Given the description of an element on the screen output the (x, y) to click on. 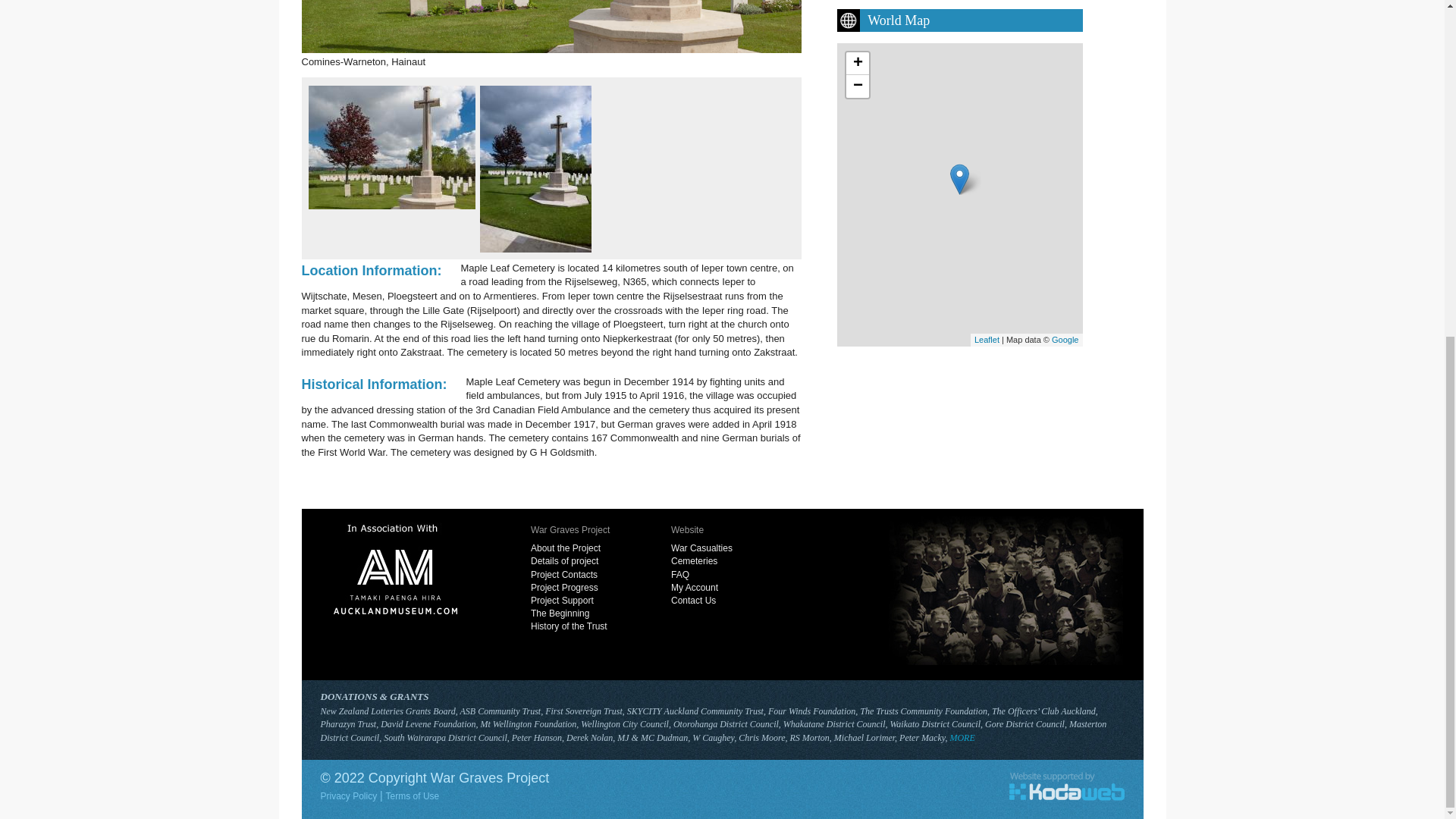
Google (1064, 338)
Leaflet (986, 338)
Maple Leaf Cemetery (551, 27)
A JS library for interactive maps (986, 338)
History of the Trust (582, 626)
Maple Leaf Cemetery (390, 147)
Project Support (582, 600)
Zoom in (857, 63)
Project Progress (582, 587)
About the Project (582, 548)
